Given the description of an element on the screen output the (x, y) to click on. 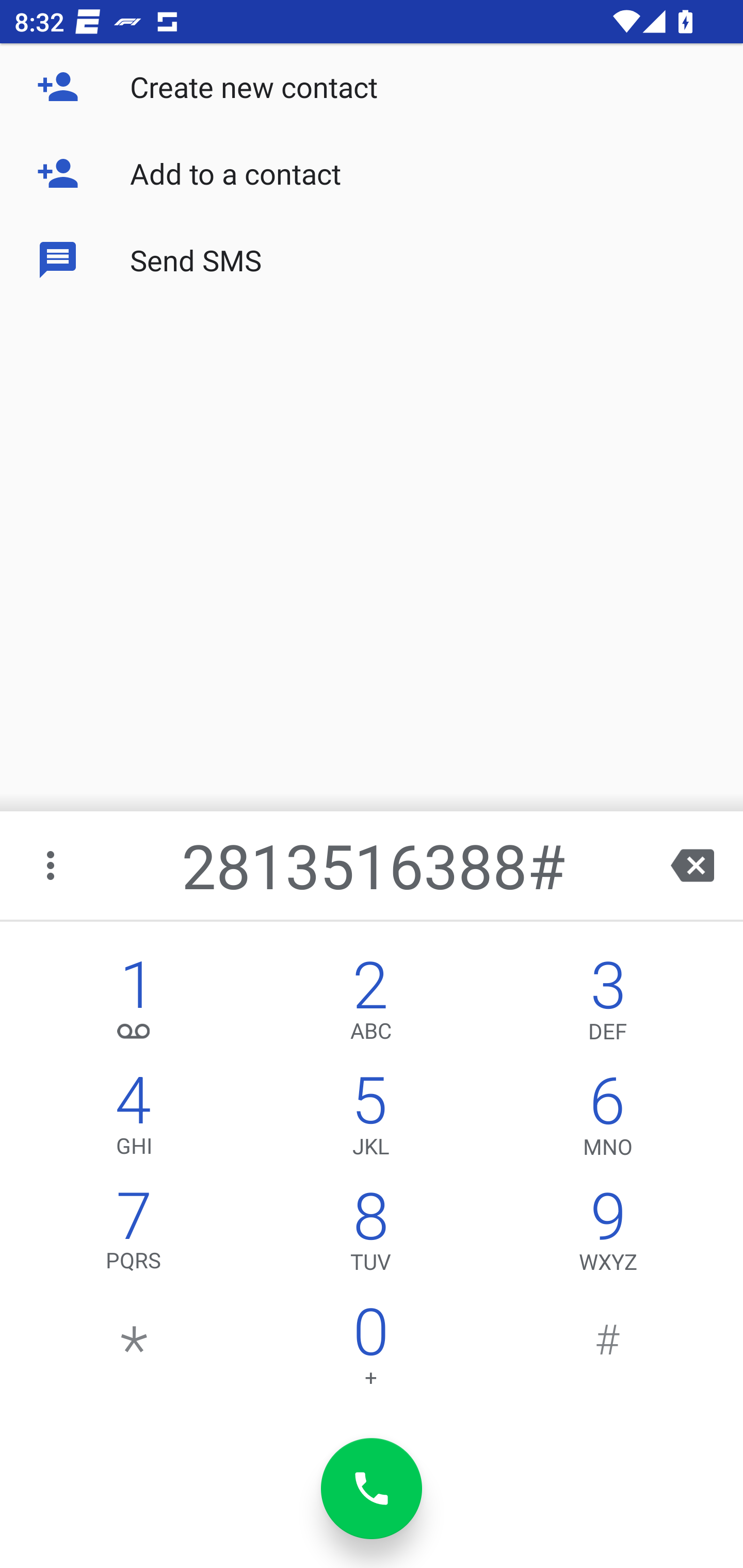
Create new contact (371, 86)
Add to a contact (371, 173)
Send SMS (371, 259)
2813516388# (372, 865)
backspace (692, 865)
More options (52, 865)
1, 1 (133, 1005)
2,ABC 2 ABC (370, 1005)
3,DEF 3 DEF (607, 1005)
4,GHI 4 GHI (133, 1120)
5,JKL 5 JKL (370, 1120)
6,MNO 6 MNO (607, 1120)
7,PQRS 7 PQRS (133, 1235)
8,TUV 8 TUV (370, 1235)
9,WXYZ 9 WXYZ (607, 1235)
* (133, 1351)
0 0 + (370, 1351)
# (607, 1351)
dial (371, 1488)
